Given the description of an element on the screen output the (x, y) to click on. 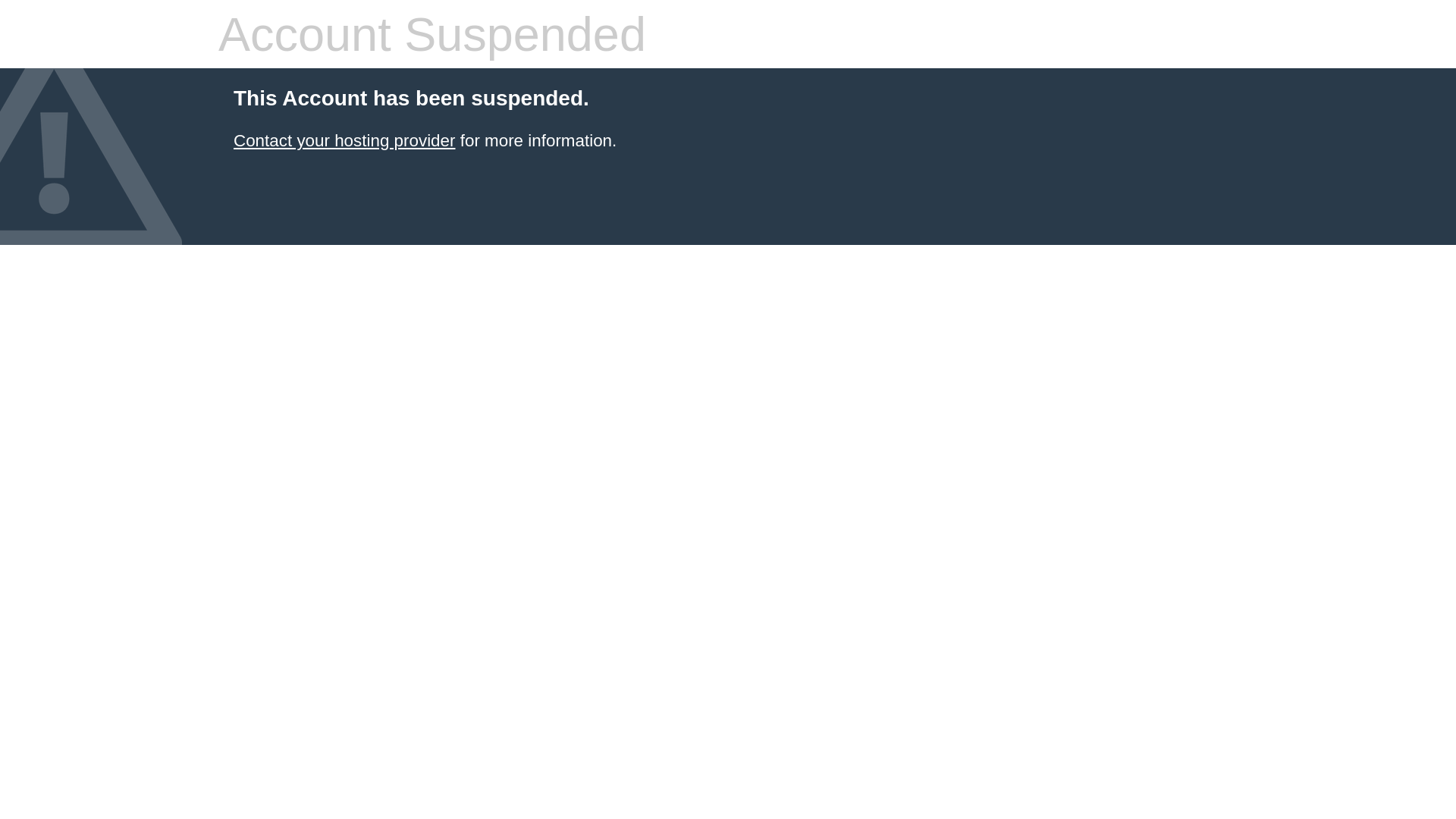
Contact your hosting provider Element type: text (344, 140)
